Given the description of an element on the screen output the (x, y) to click on. 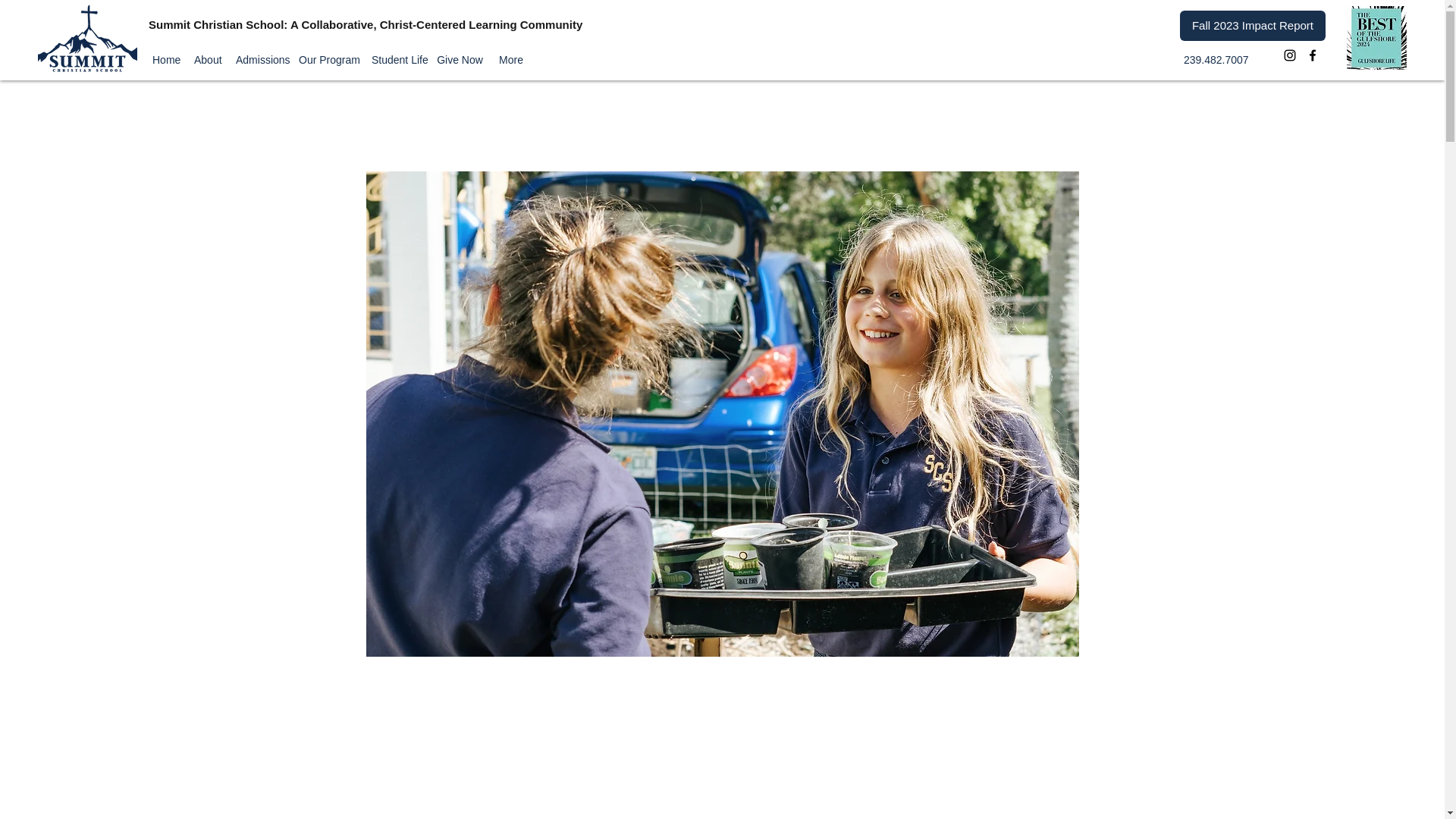
Home (165, 60)
Our Program (327, 60)
Fall 2023 Impact Report (1251, 25)
Admissions (259, 60)
Give Now (460, 60)
About (207, 60)
Student Life (396, 60)
